Given the description of an element on the screen output the (x, y) to click on. 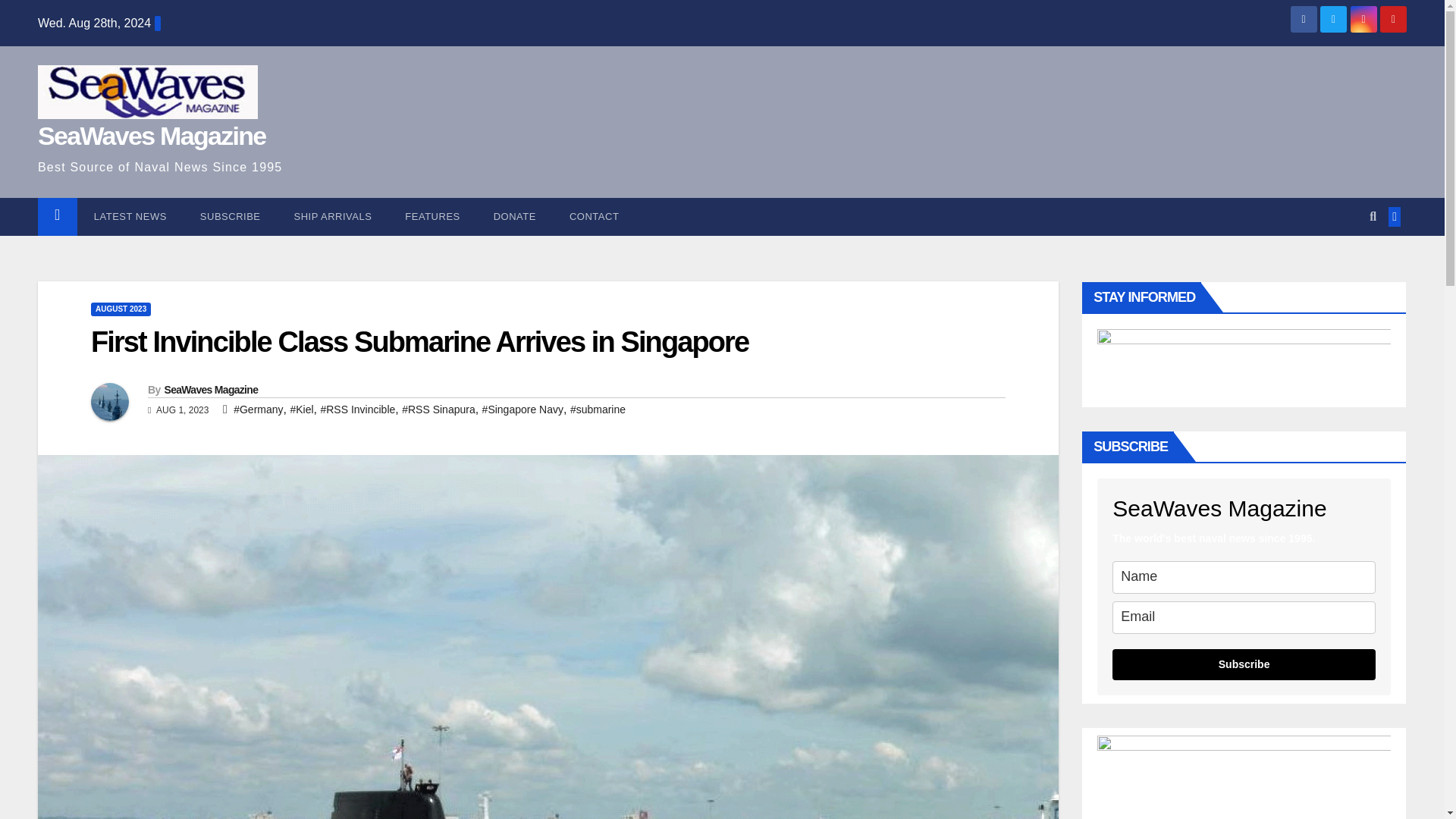
SeaWaves Magazine (151, 135)
Ship Arrivals (333, 216)
Latest News (130, 216)
SUBSCRIBE (230, 216)
Features (432, 216)
FEATURES (432, 216)
SHIP ARRIVALS (333, 216)
Subscribe (230, 216)
LATEST NEWS (130, 216)
